Given the description of an element on the screen output the (x, y) to click on. 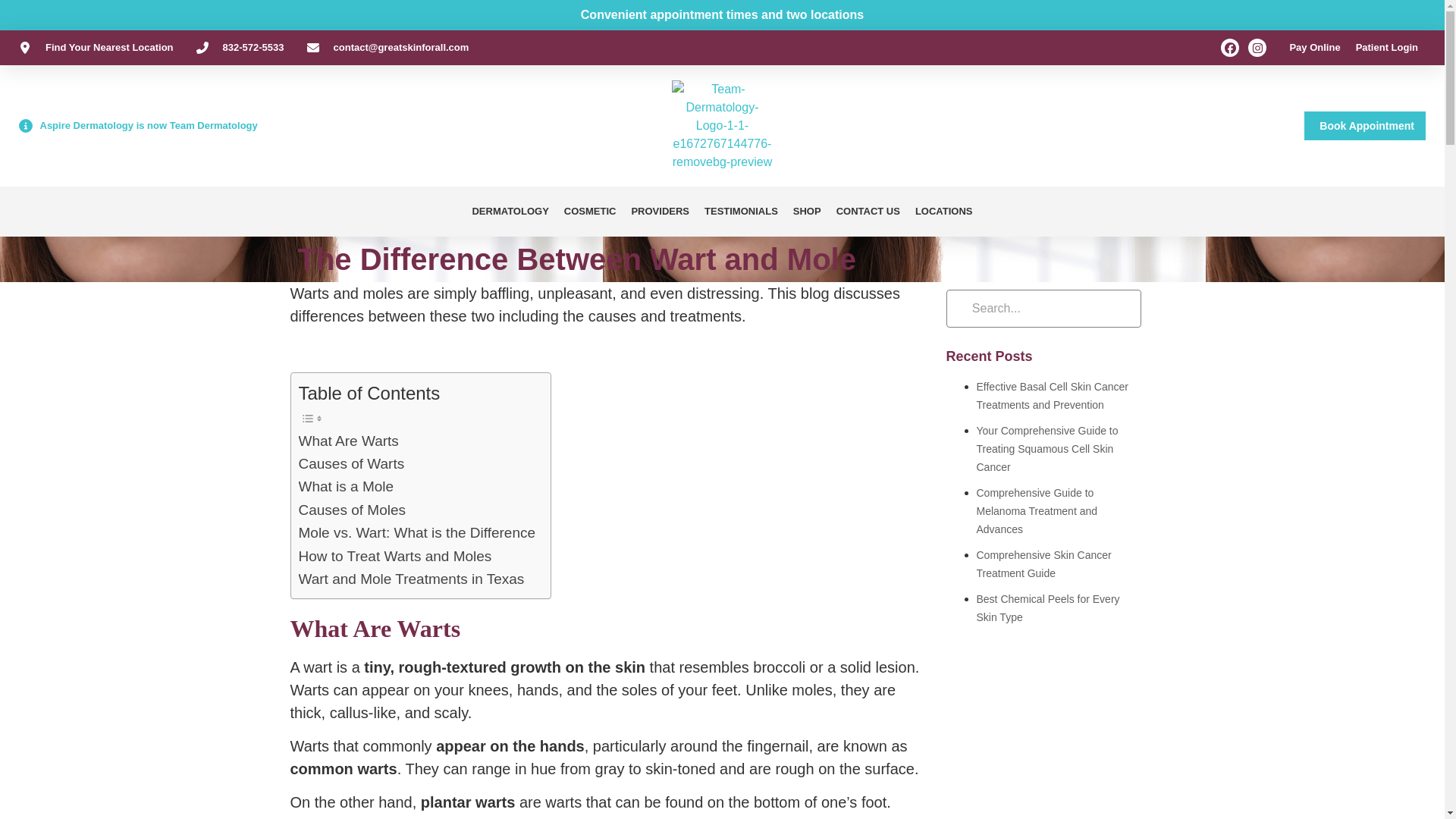
Team-Dermatology-Logo-1-1-e1672767144776-removebg-preview (722, 125)
Convenient appointment times and two locations (721, 14)
Find Your Nearest Location (95, 47)
What is a Mole (346, 486)
Wart and Mole Treatments in Texas (411, 579)
Book Appointment (1364, 125)
How to Treat Warts and Moles (395, 556)
832-572-5533 (239, 47)
Mole vs. Wart: What is the Difference (416, 532)
What Are Warts (348, 440)
